Given the description of an element on the screen output the (x, y) to click on. 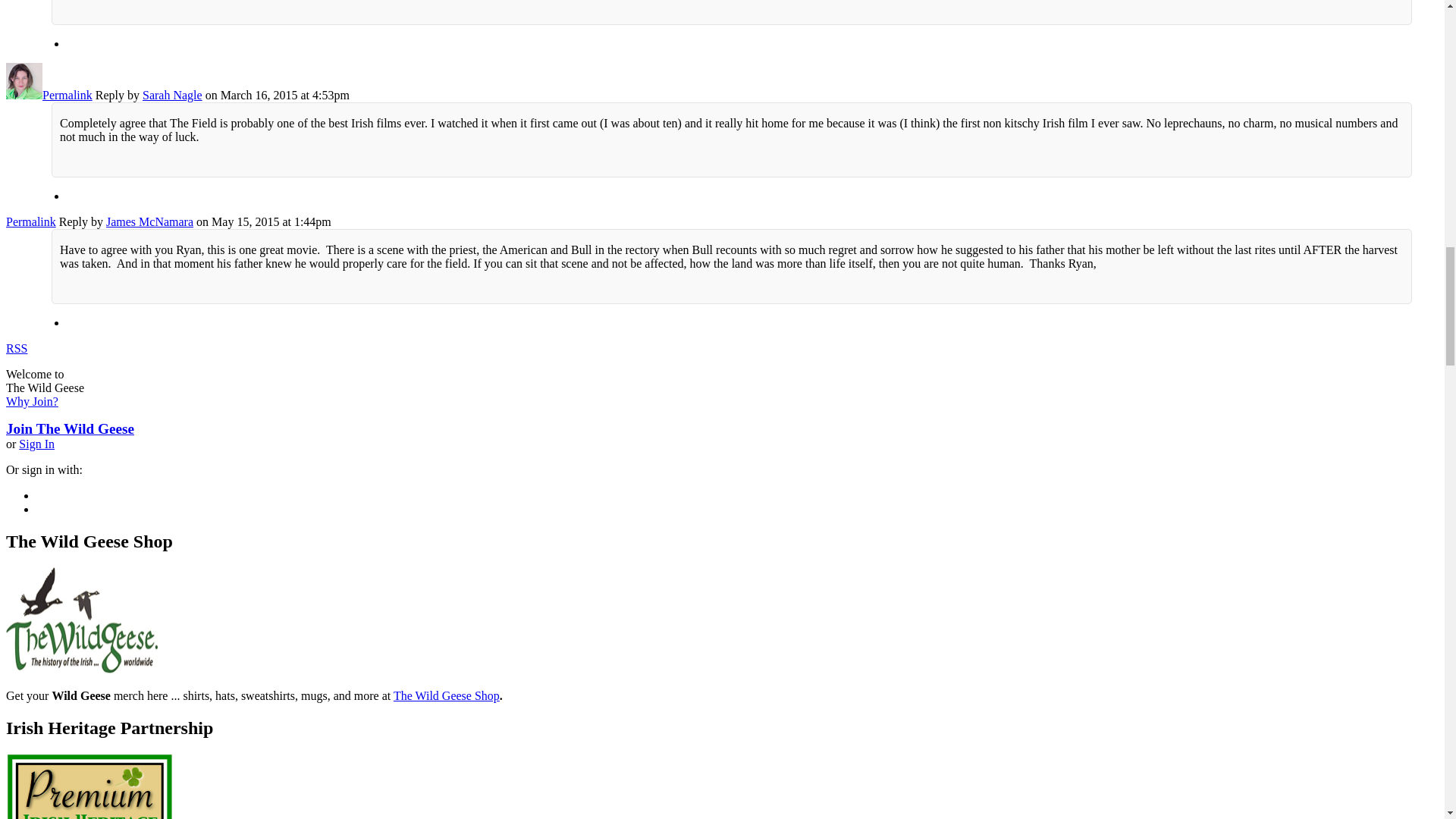
Permalink to this Reply (30, 221)
Permalink to this Reply (67, 94)
Sarah Nagle (23, 94)
